Given the description of an element on the screen output the (x, y) to click on. 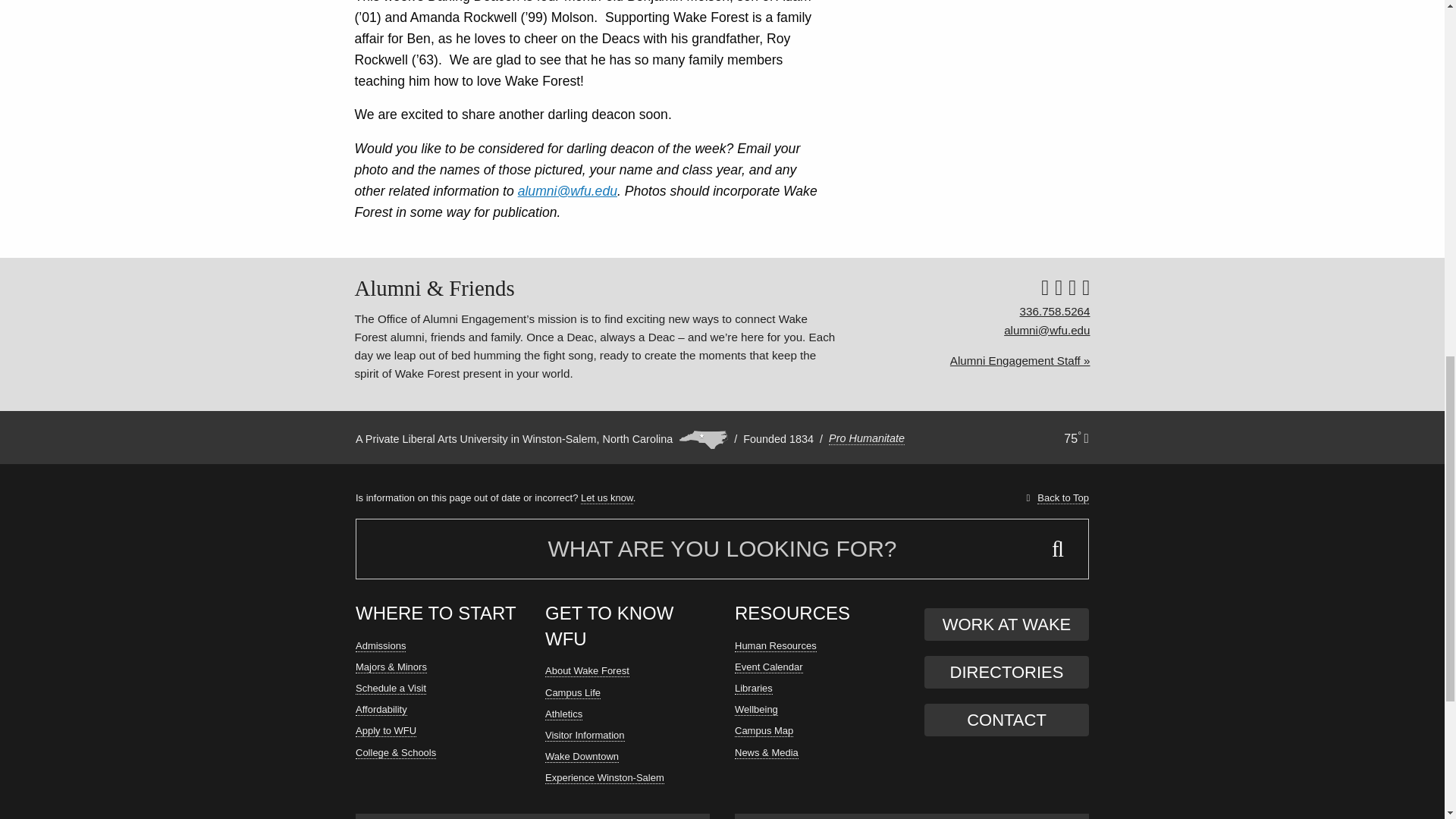
Back to Top (1061, 498)
